Given the description of an element on the screen output the (x, y) to click on. 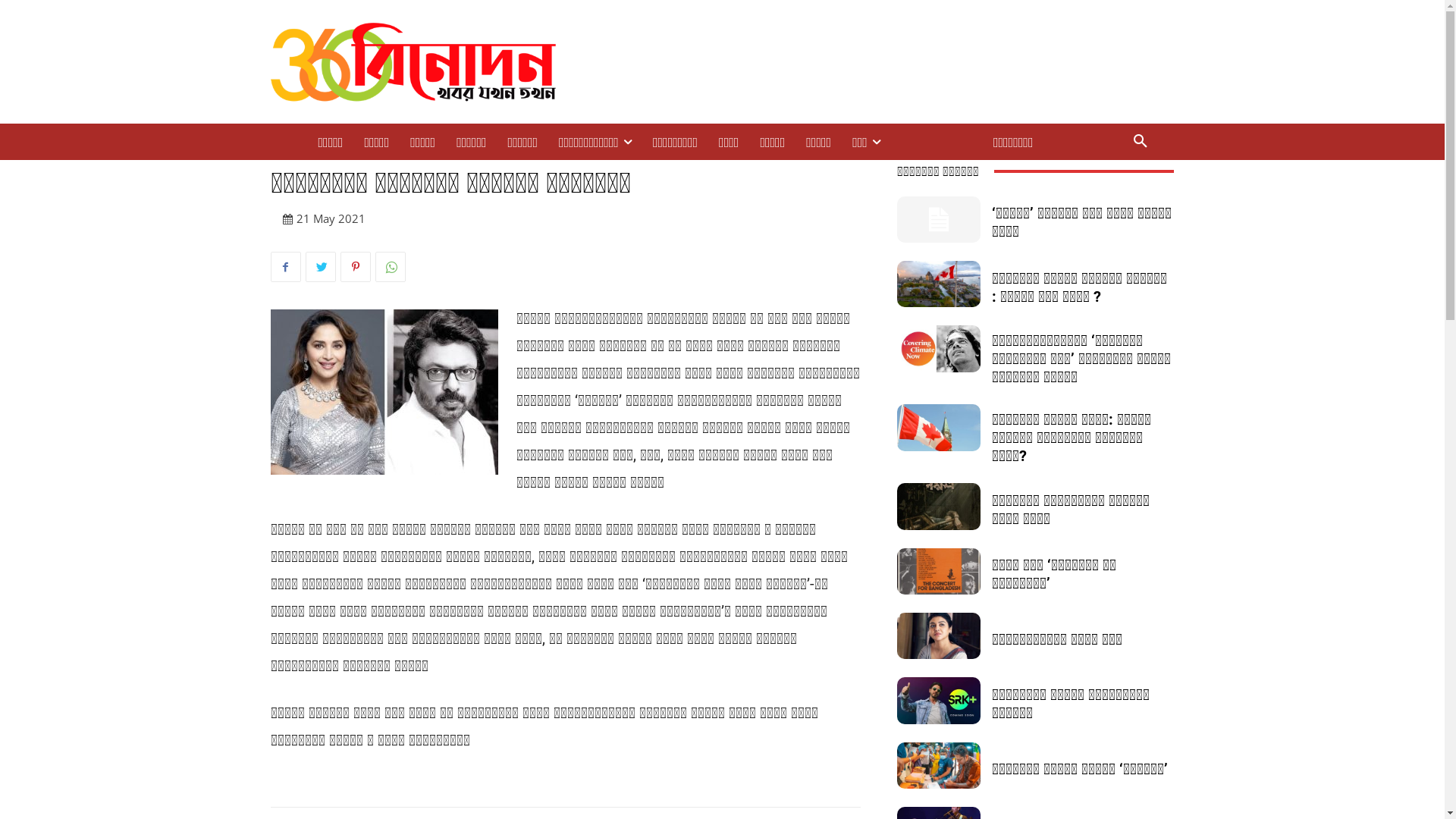
Pinterest Element type: hover (354, 266)
Twitter Element type: hover (319, 266)
Facebook Element type: hover (284, 266)
WhatsApp Element type: hover (389, 266)
